Given the description of an element on the screen output the (x, y) to click on. 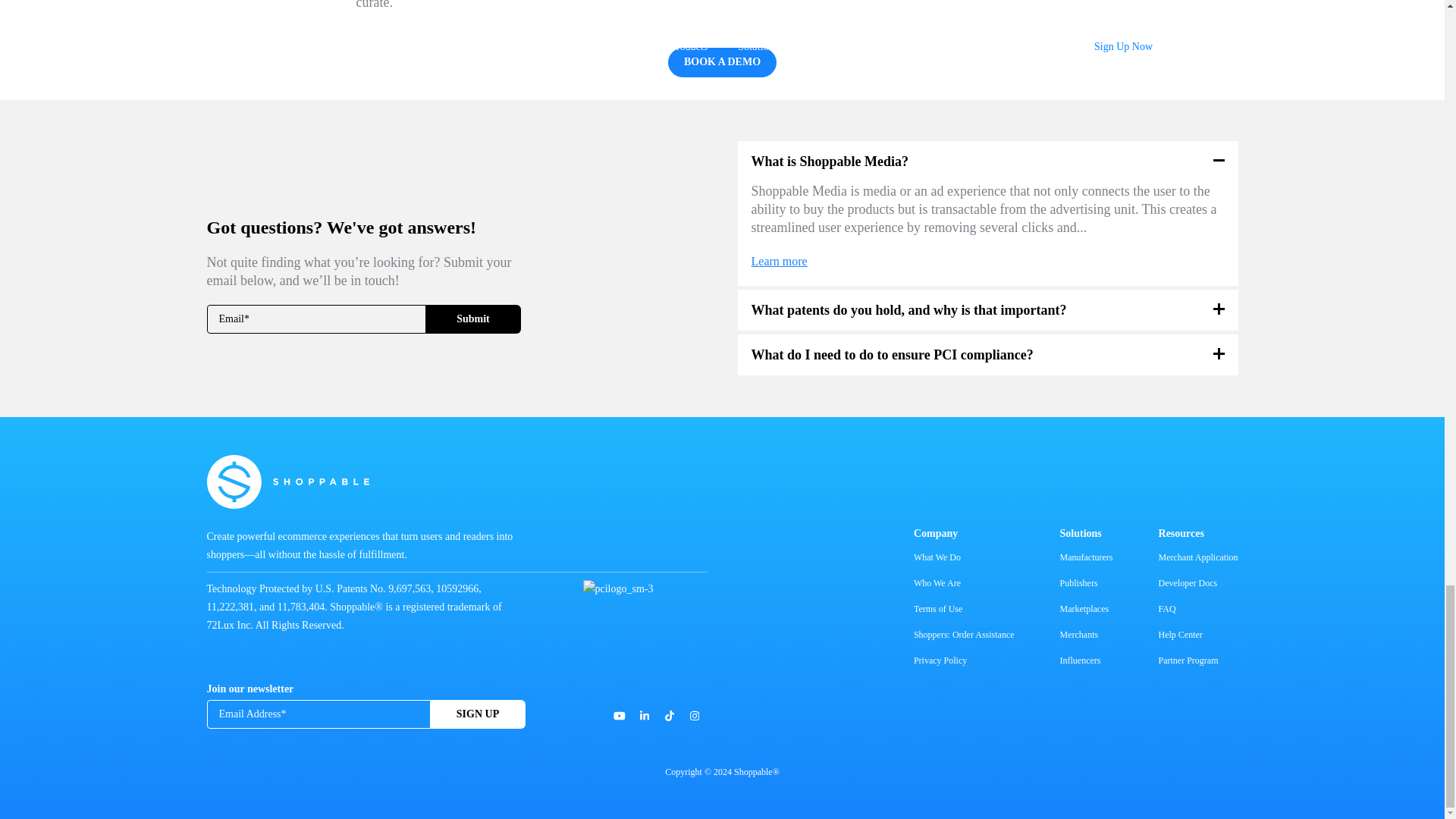
Shoppable Vertical Logo-2 (287, 482)
Submit (473, 318)
BOOK A DEMO (722, 61)
SIGN UP (477, 714)
